Given the description of an element on the screen output the (x, y) to click on. 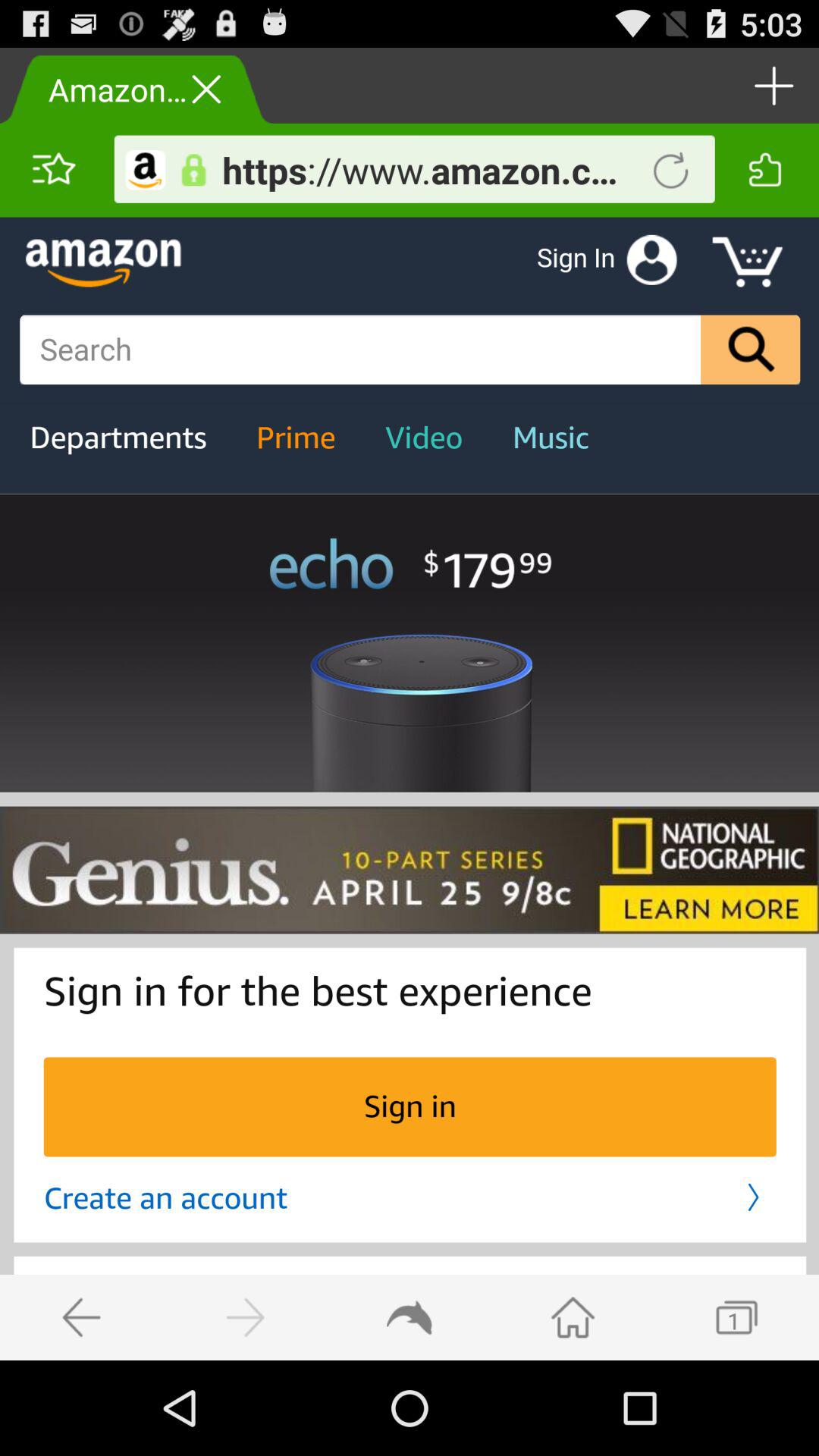
add tab (771, 85)
